Given the description of an element on the screen output the (x, y) to click on. 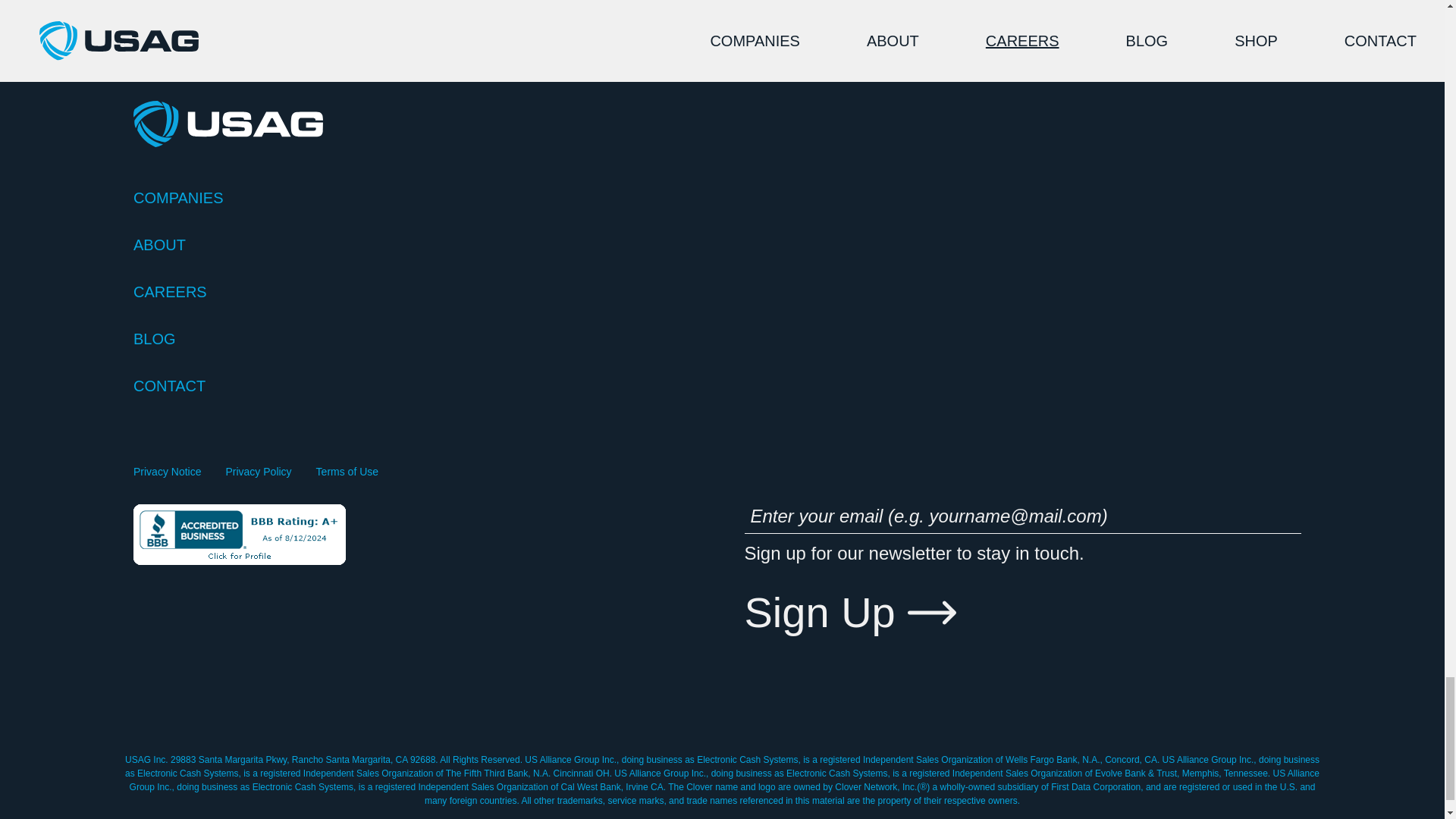
Terms of Use (346, 471)
COMPANIES (722, 197)
CAREERS (722, 291)
Privacy Policy (258, 471)
BLOG (722, 338)
Privacy Notice (166, 471)
ABOUT (722, 244)
Sign Up (850, 612)
CONTACT (722, 385)
